Given the description of an element on the screen output the (x, y) to click on. 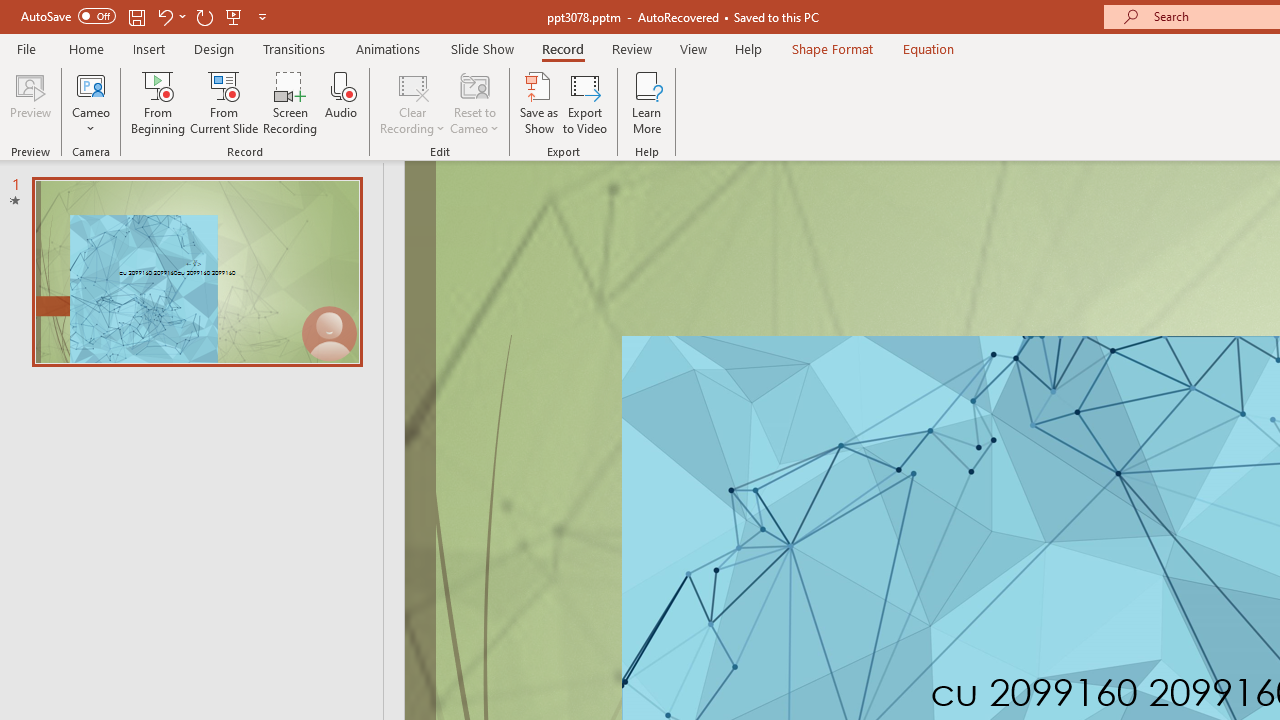
Learn More (646, 102)
Reset to Cameo (474, 102)
Cameo (91, 102)
From Current Slide... (224, 102)
Cameo (91, 84)
Equation (928, 48)
